Given the description of an element on the screen output the (x, y) to click on. 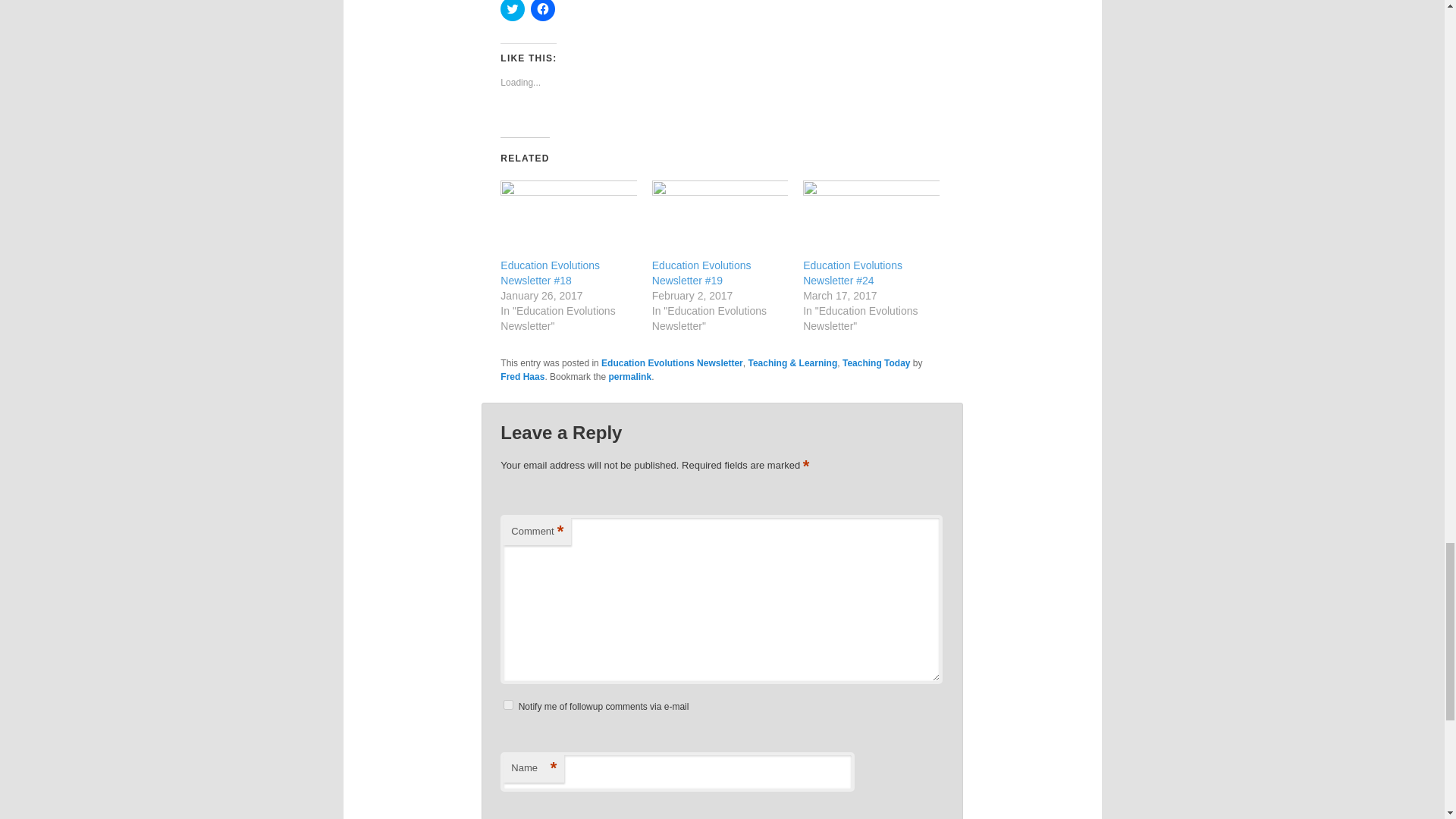
Click to share on Facebook (542, 10)
Click to share on Twitter (512, 10)
subscribe (508, 705)
permalink (629, 376)
Education Evolutions Newsletter (671, 362)
Fred Haas (522, 376)
Teaching Today (877, 362)
